Given the description of an element on the screen output the (x, y) to click on. 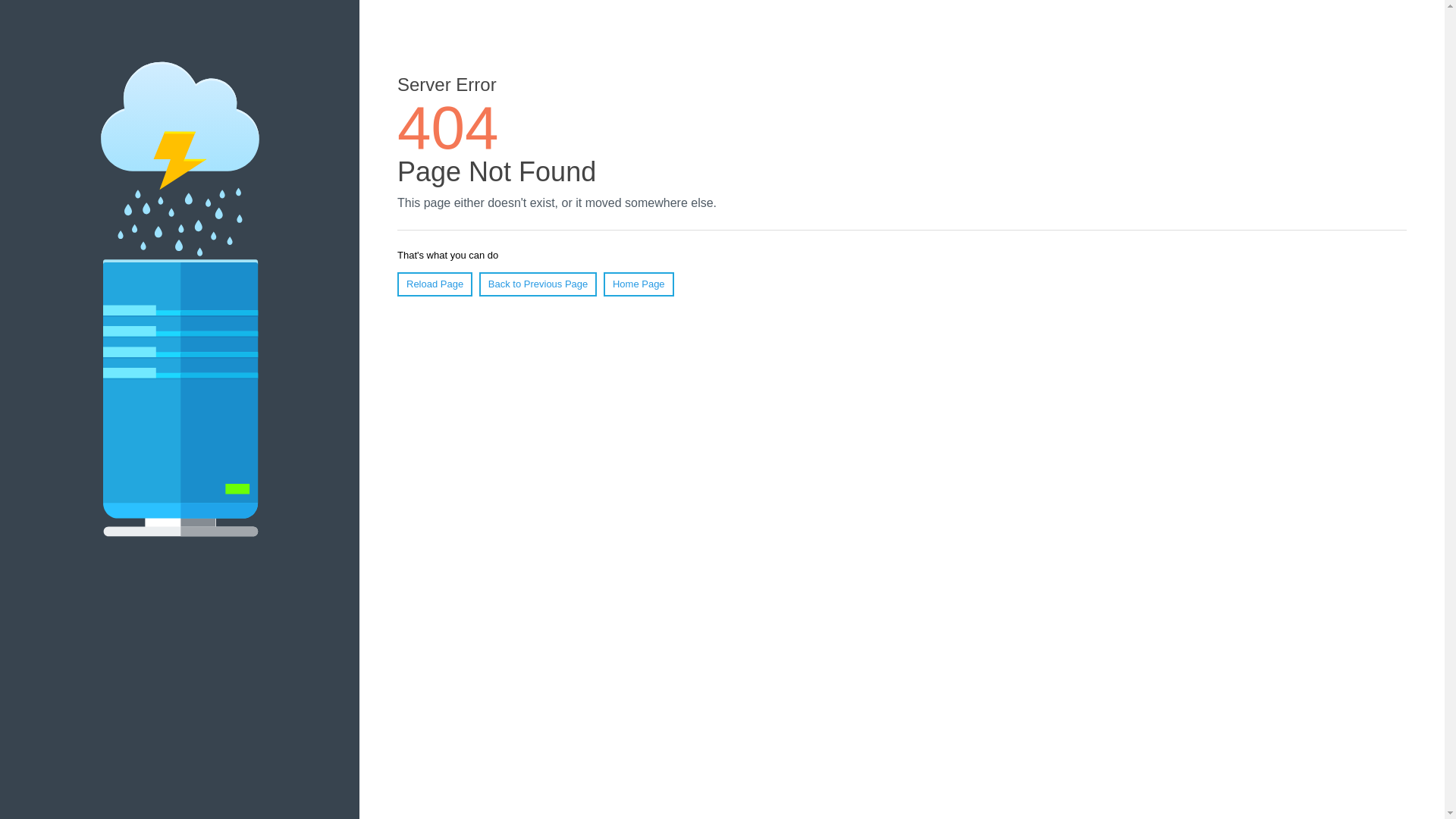
Reload Page Element type: text (434, 284)
Home Page Element type: text (638, 284)
Back to Previous Page Element type: text (538, 284)
